Given the description of an element on the screen output the (x, y) to click on. 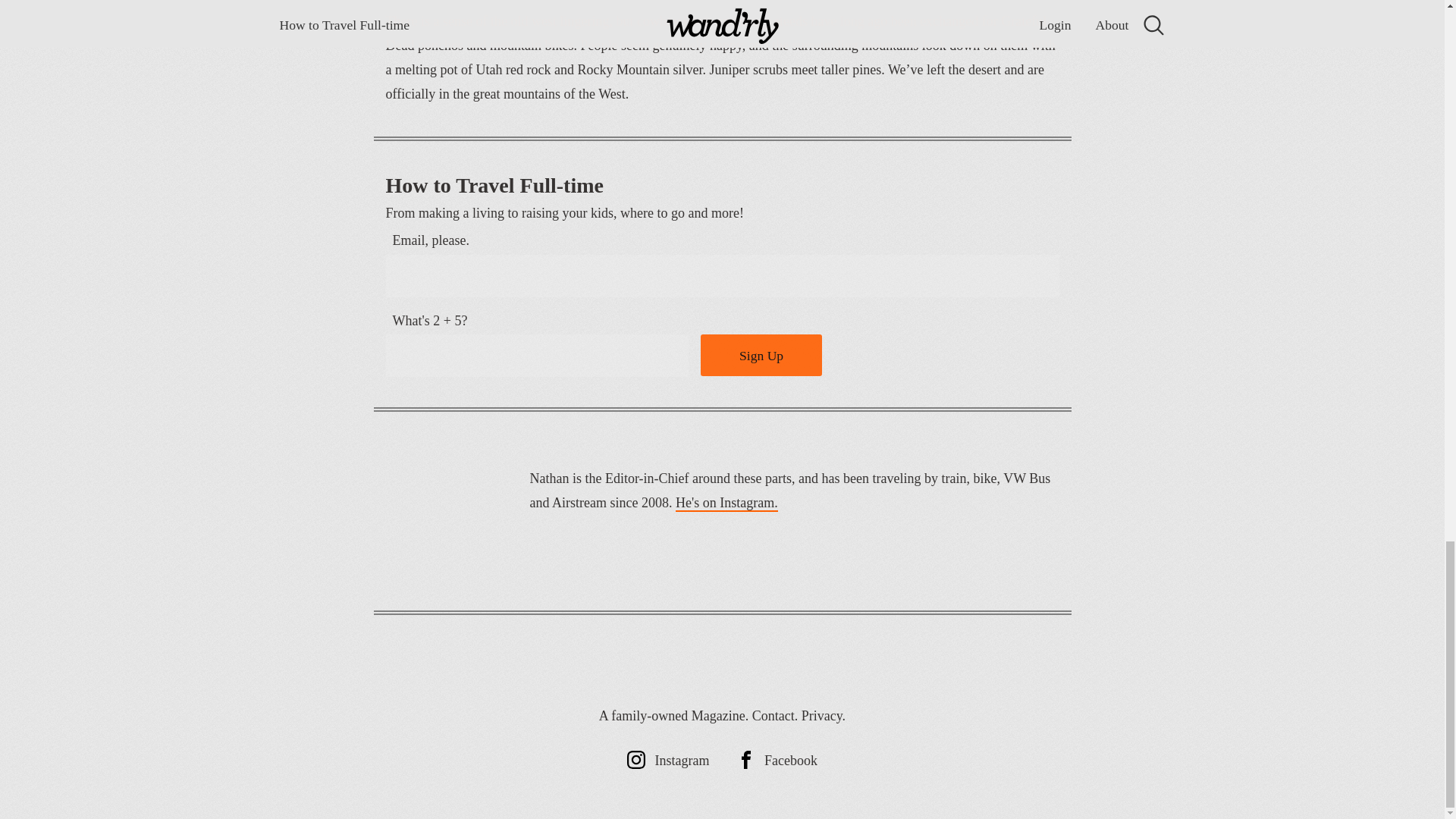
Instagram (668, 760)
Privacy. (823, 715)
Sign Up (761, 354)
A family-owned Magazine. (673, 715)
Facebook (776, 760)
Sign Up (761, 354)
Contact. (774, 715)
He's on Instagram. (726, 503)
